Given the description of an element on the screen output the (x, y) to click on. 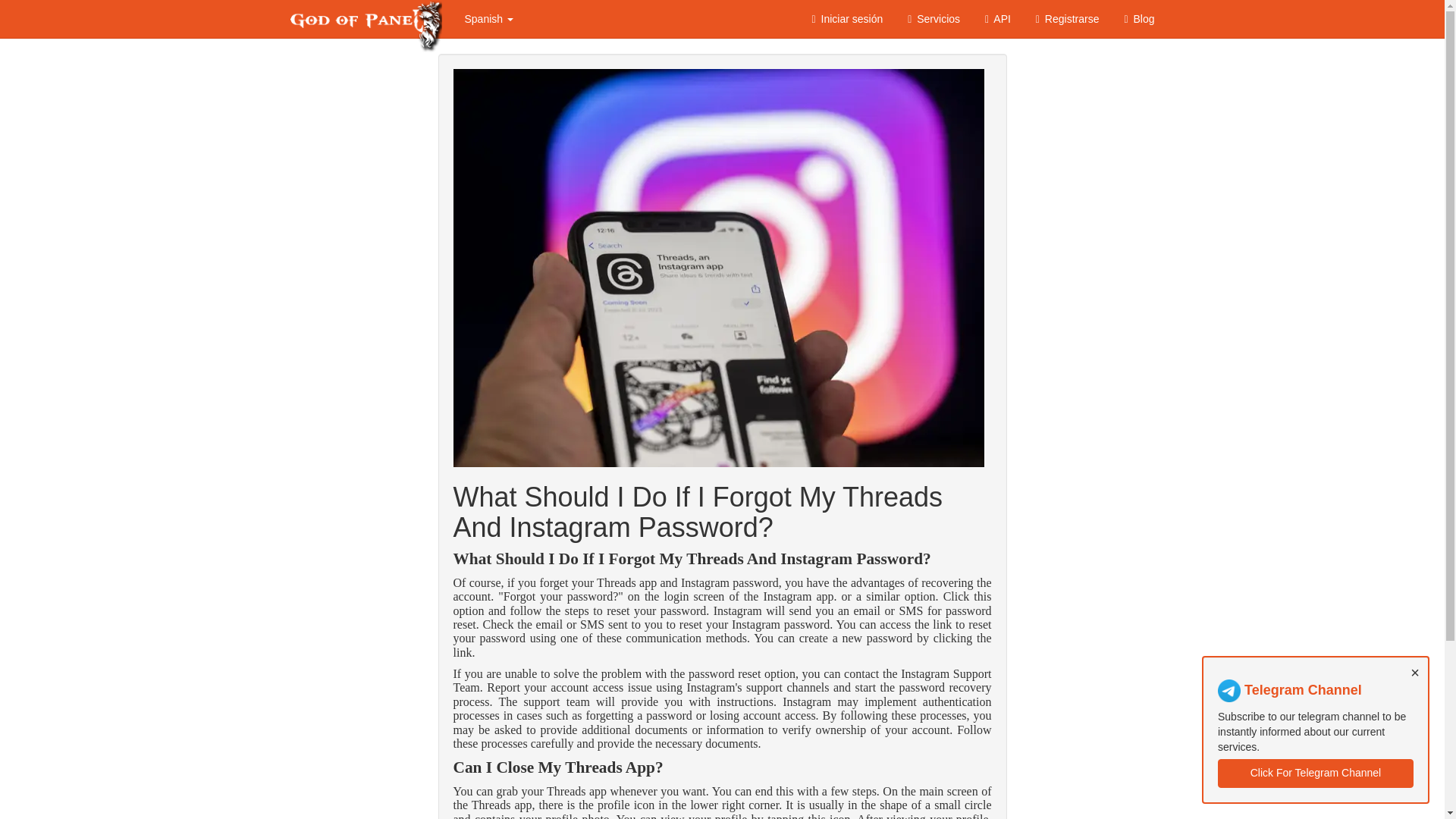
Spanish (488, 18)
Servicios (932, 18)
Click For Telegram Channel (1315, 773)
API (996, 18)
Registrarse (1066, 18)
Blog (1137, 18)
Click For Telegram Channel (1315, 770)
